Given the description of an element on the screen output the (x, y) to click on. 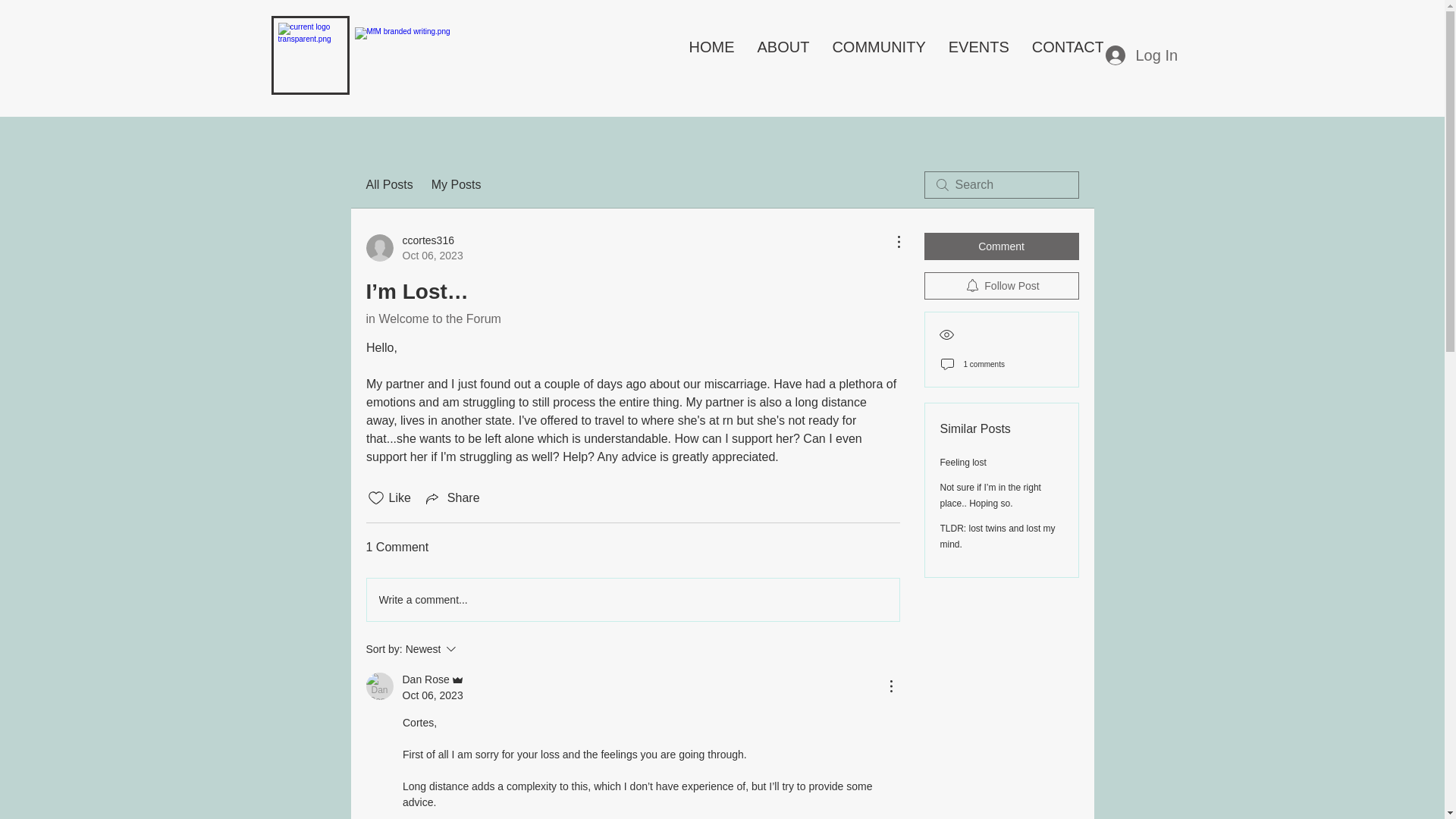
Feeling lost (963, 462)
EVENTS (978, 55)
All Posts (471, 648)
Follow Post (388, 185)
COMMUNITY (1000, 285)
Comment (878, 55)
TLDR: lost twins and lost my mind. (1000, 246)
Log In (997, 536)
in Welcome to the Forum (1139, 54)
Share (432, 318)
CONTACT (451, 497)
ABOUT (1067, 55)
Dan Rose (783, 55)
